Given the description of an element on the screen output the (x, y) to click on. 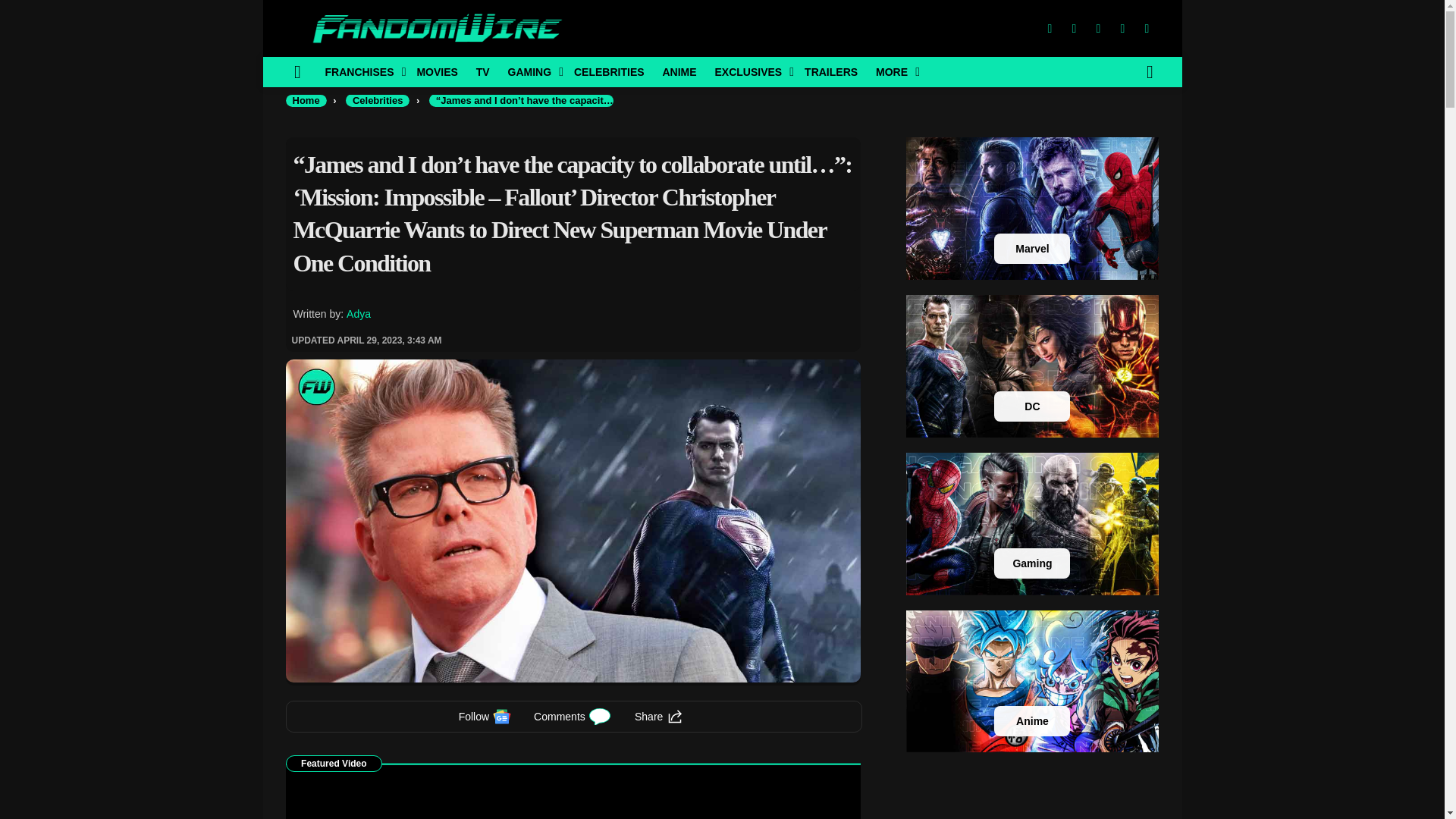
ANIME (678, 71)
FRANCHISES (361, 71)
YT (1146, 28)
EXCLUSIVES (749, 71)
GAMING (532, 71)
MOVIES (436, 71)
TRAILERS (830, 71)
MORE (893, 71)
Menu (296, 71)
CELEBRITIES (609, 71)
